Given the description of an element on the screen output the (x, y) to click on. 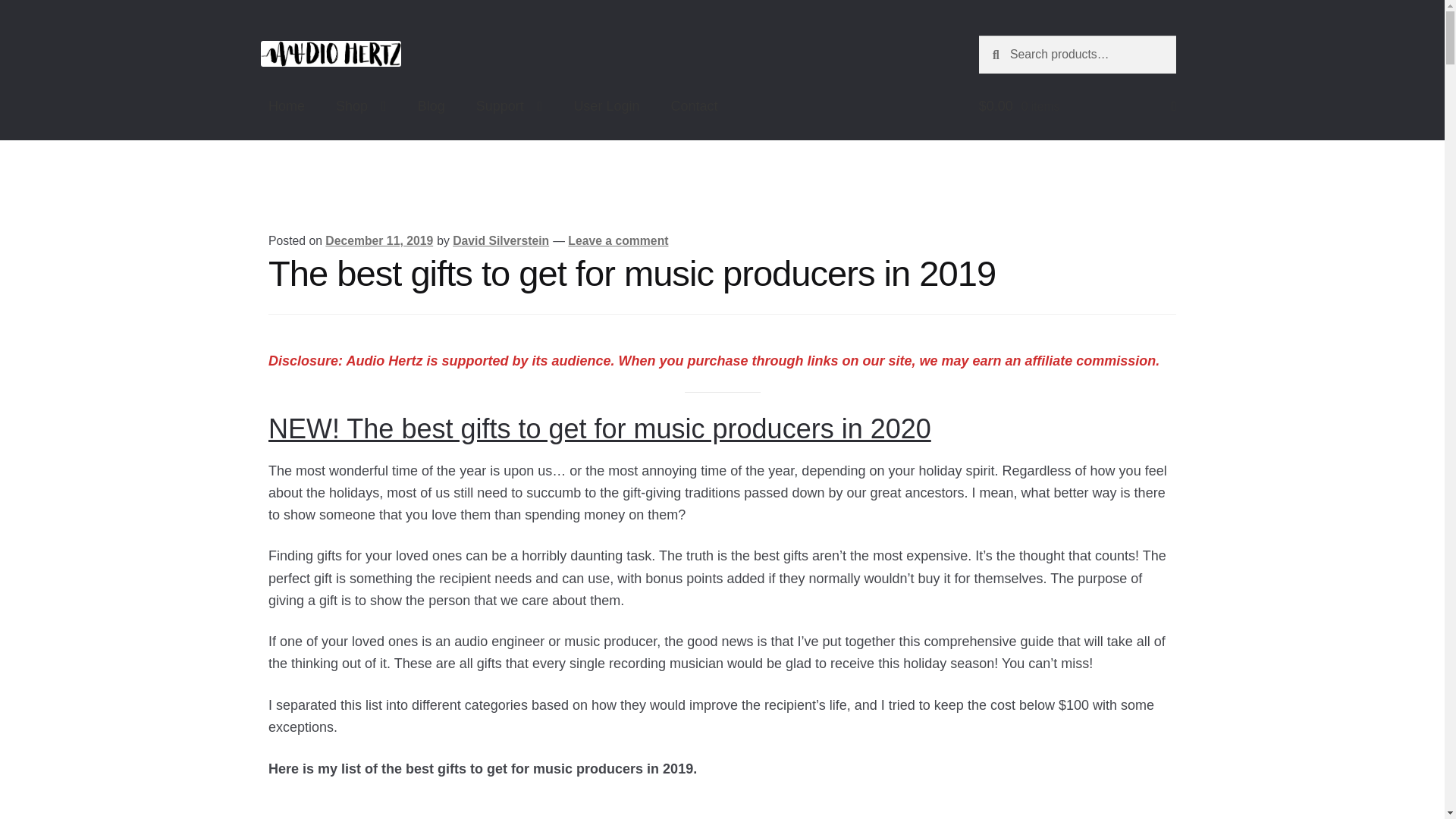
Home (286, 106)
Support (509, 106)
Shop (360, 106)
David Silverstein (500, 240)
View your shopping cart (1077, 106)
Leave a comment (617, 240)
Contact (693, 106)
December 11, 2019 (378, 240)
User Login (605, 106)
NEW! The best gifts to get for music producers in 2020 (599, 428)
